Given the description of an element on the screen output the (x, y) to click on. 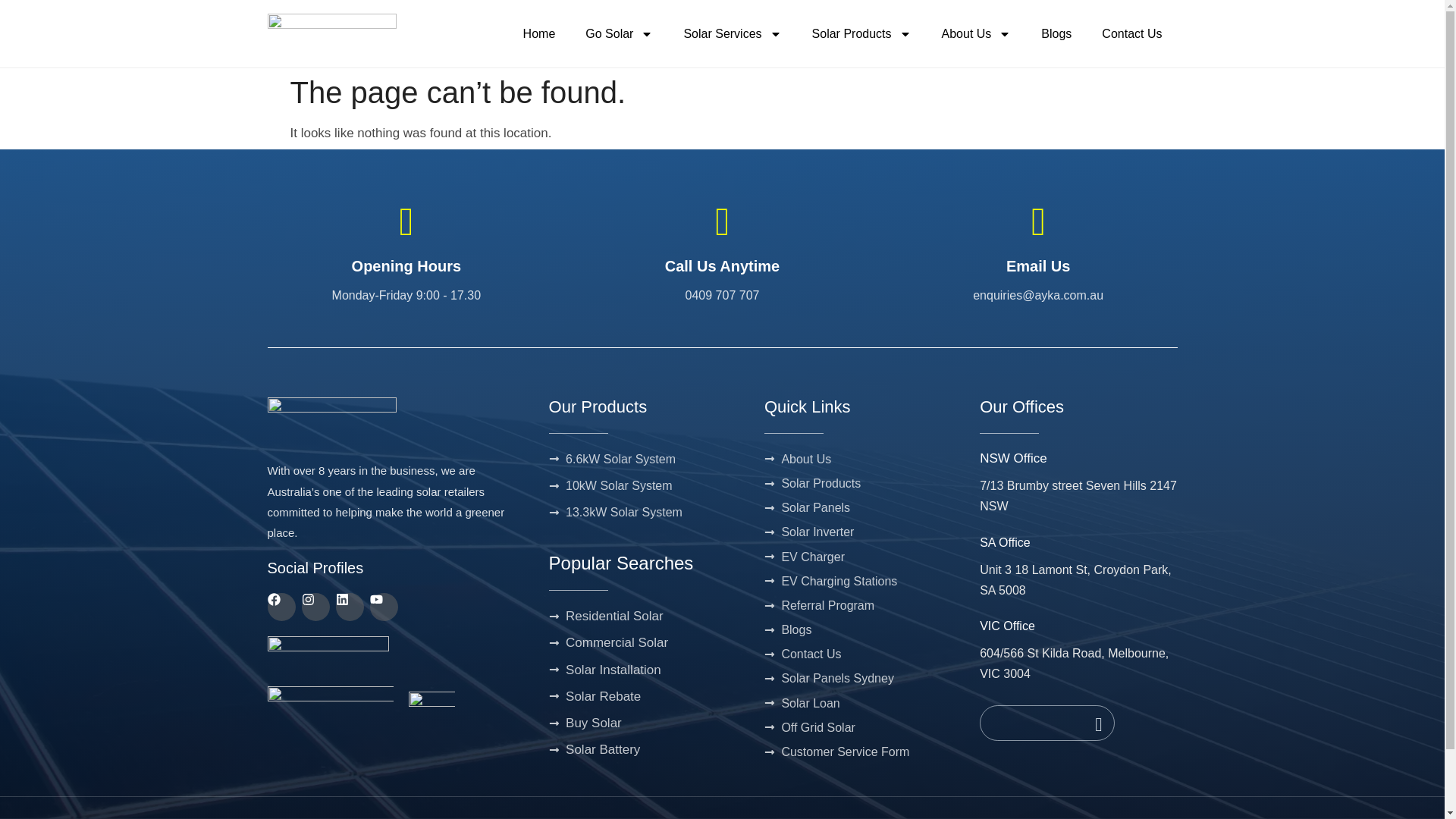
Solar Services (732, 33)
Home (539, 33)
Solar Products (861, 33)
Go Solar (619, 33)
